Given the description of an element on the screen output the (x, y) to click on. 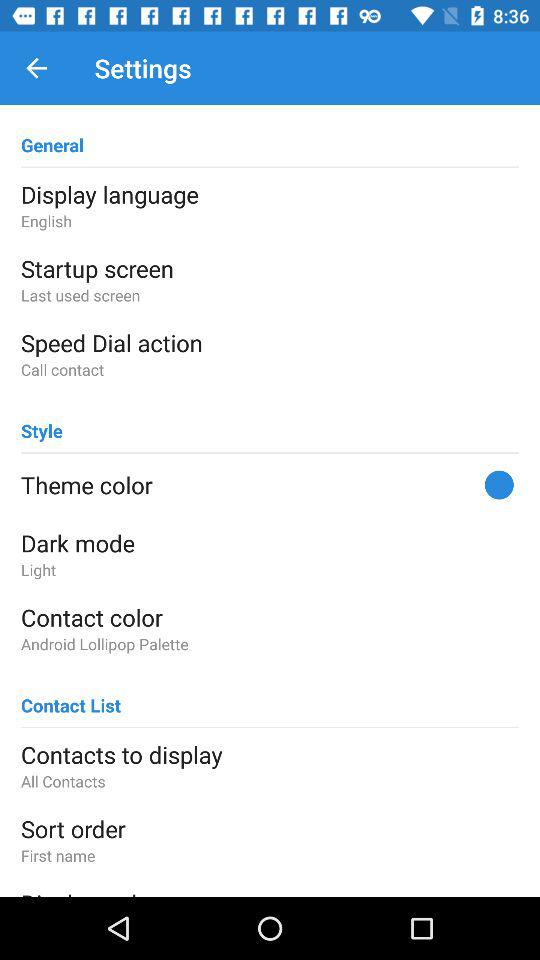
turn off the item above speed dial action (270, 294)
